Given the description of an element on the screen output the (x, y) to click on. 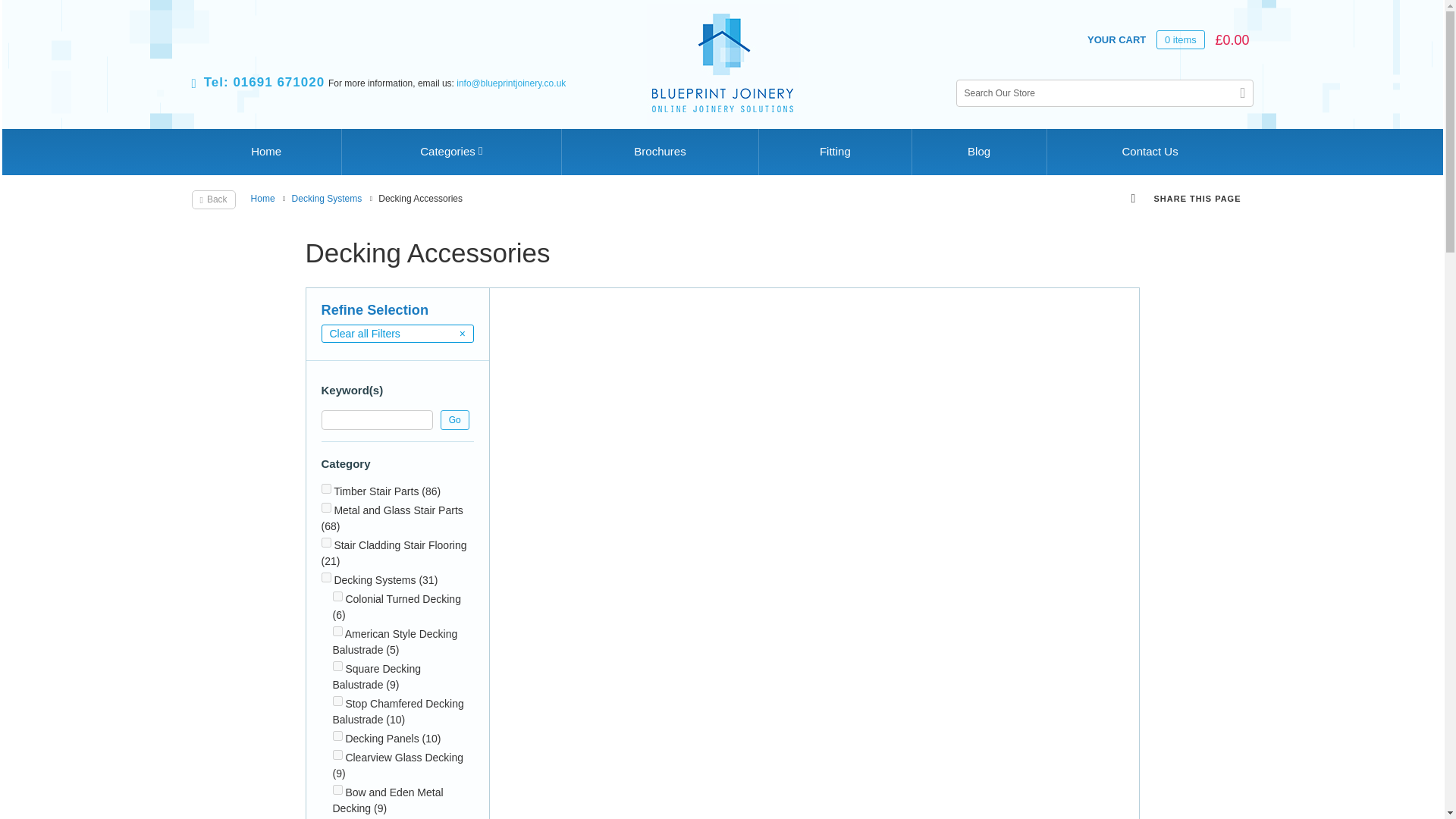
176 (336, 755)
85 (326, 507)
Keyword (376, 419)
1 (326, 488)
Blueprint Joinery Homepage (721, 64)
126 (326, 542)
179 (336, 596)
Categories (451, 151)
183 (336, 700)
Tel: 01691 671020 (257, 81)
